Given the description of an element on the screen output the (x, y) to click on. 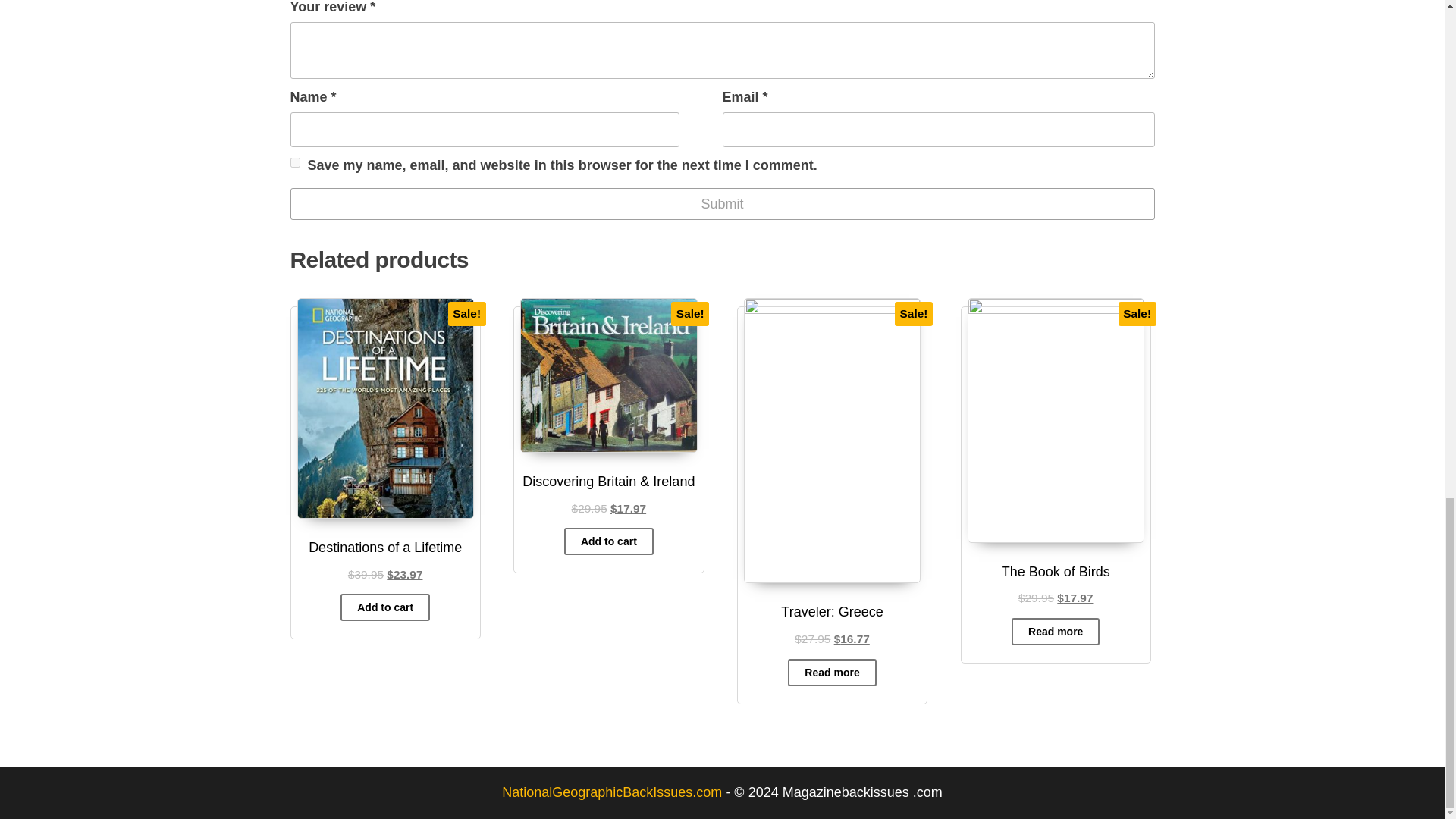
Submit (721, 204)
yes (294, 162)
